Given the description of an element on the screen output the (x, y) to click on. 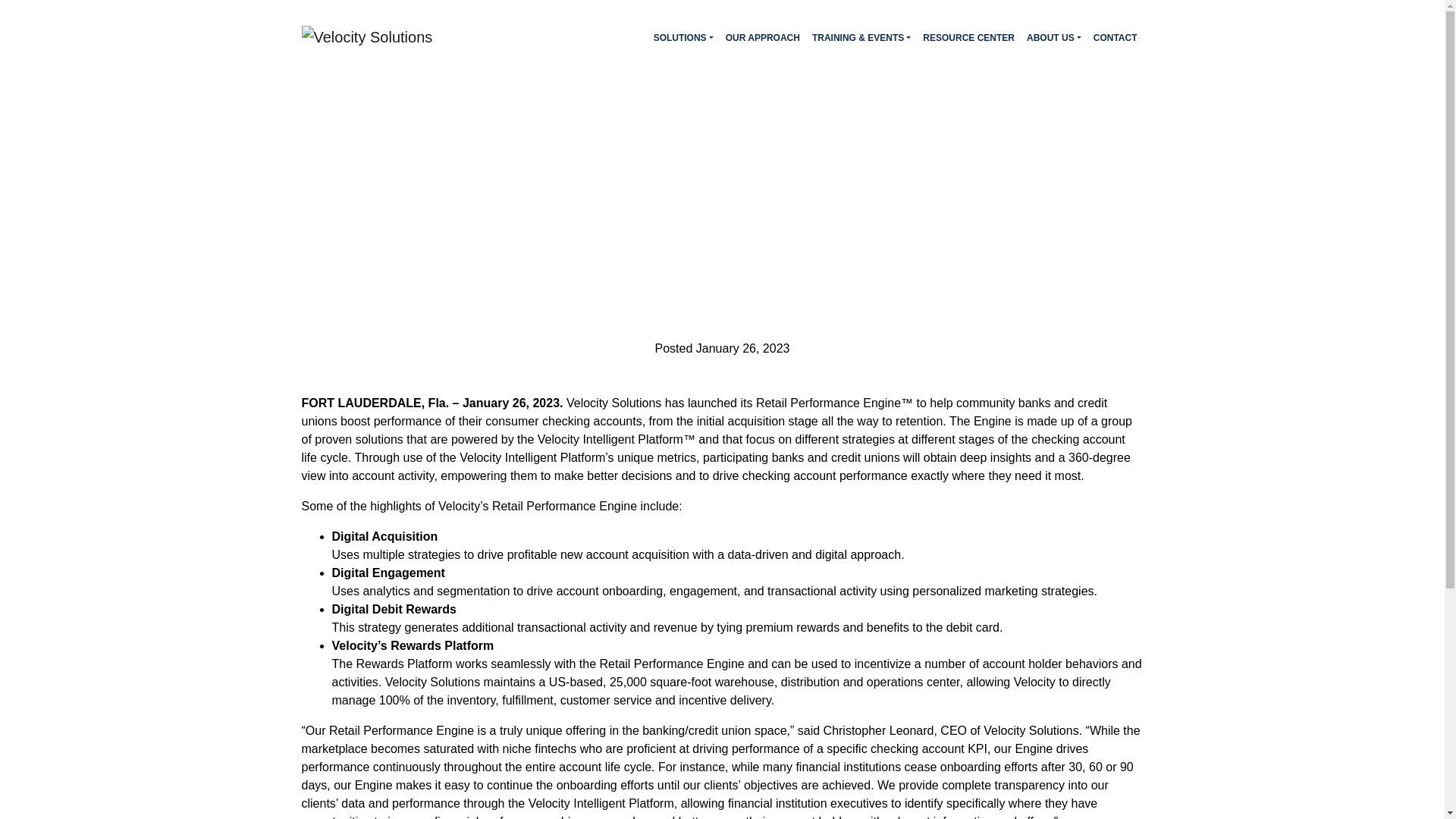
RESOURCE CENTER (968, 37)
OUR APPROACH (762, 37)
CONTACT (1115, 37)
ABOUT US (1053, 37)
Velocity Solutions (366, 50)
SOLUTIONS (683, 37)
